Given the description of an element on the screen output the (x, y) to click on. 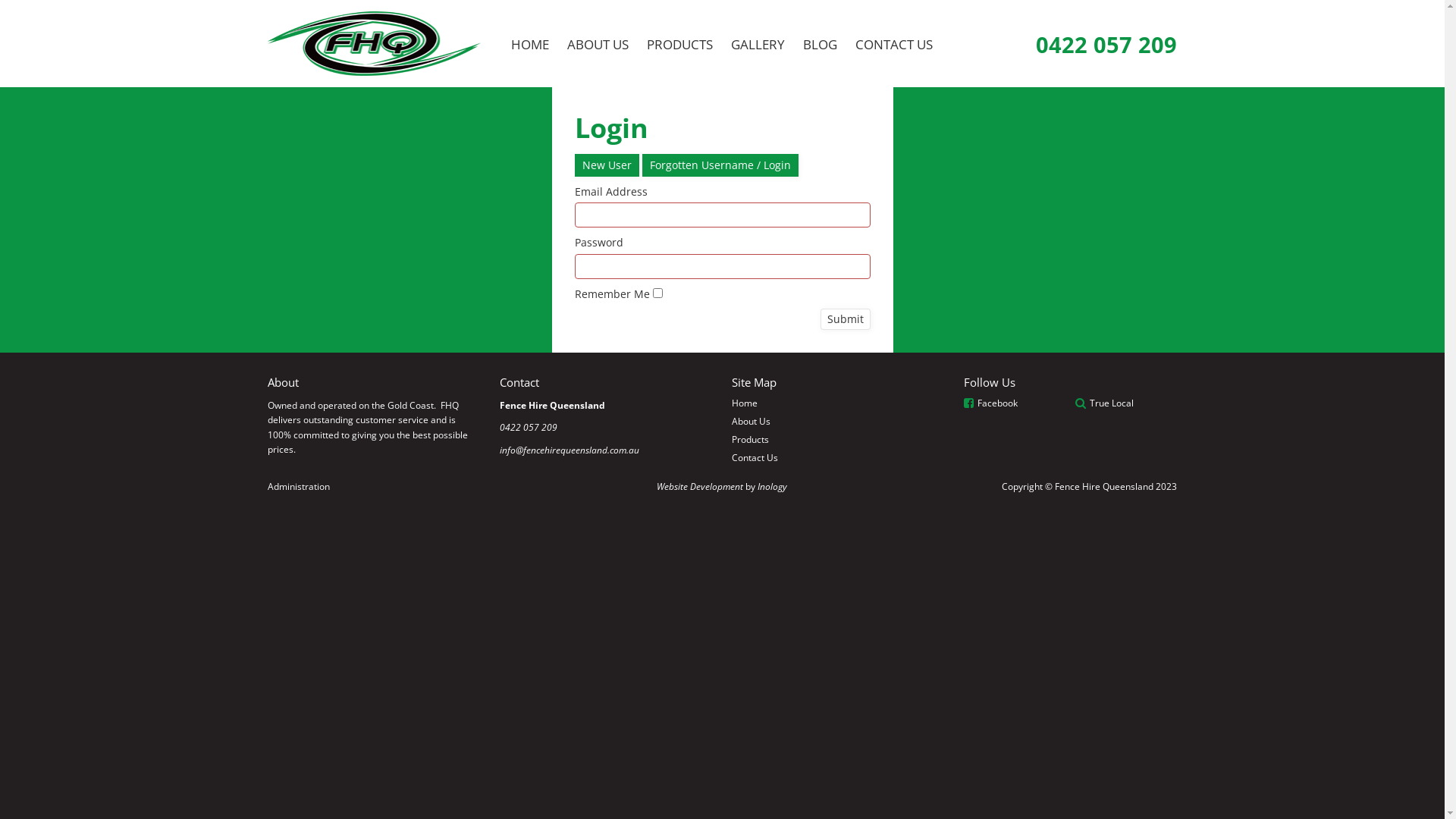
BLOG Element type: text (820, 44)
0422 057 209 Element type: text (1105, 44)
Administration Element type: text (298, 486)
ABOUT US Element type: text (597, 44)
GALLERY Element type: text (757, 44)
HOME Element type: text (530, 44)
info@fencehirequeensland.com.au Element type: text (569, 449)
Inology Element type: text (772, 486)
Facebook Element type: text (997, 403)
Contact Us Element type: text (838, 457)
CONTACT US Element type: text (893, 44)
Email Address Element type: hover (722, 214)
Submit Element type: text (845, 318)
Products Element type: text (838, 439)
PRODUCTS Element type: text (679, 44)
True Local Element type: text (1111, 403)
0422 057 209 Element type: text (528, 427)
Website Development Element type: text (699, 486)
Forgotten Username / Login Element type: text (719, 164)
Remember Me Element type: hover (657, 293)
New User Element type: text (606, 164)
Fence Hire Queensland Element type: hover (374, 43)
Home Element type: text (838, 403)
Password Element type: hover (722, 266)
